Given the description of an element on the screen output the (x, y) to click on. 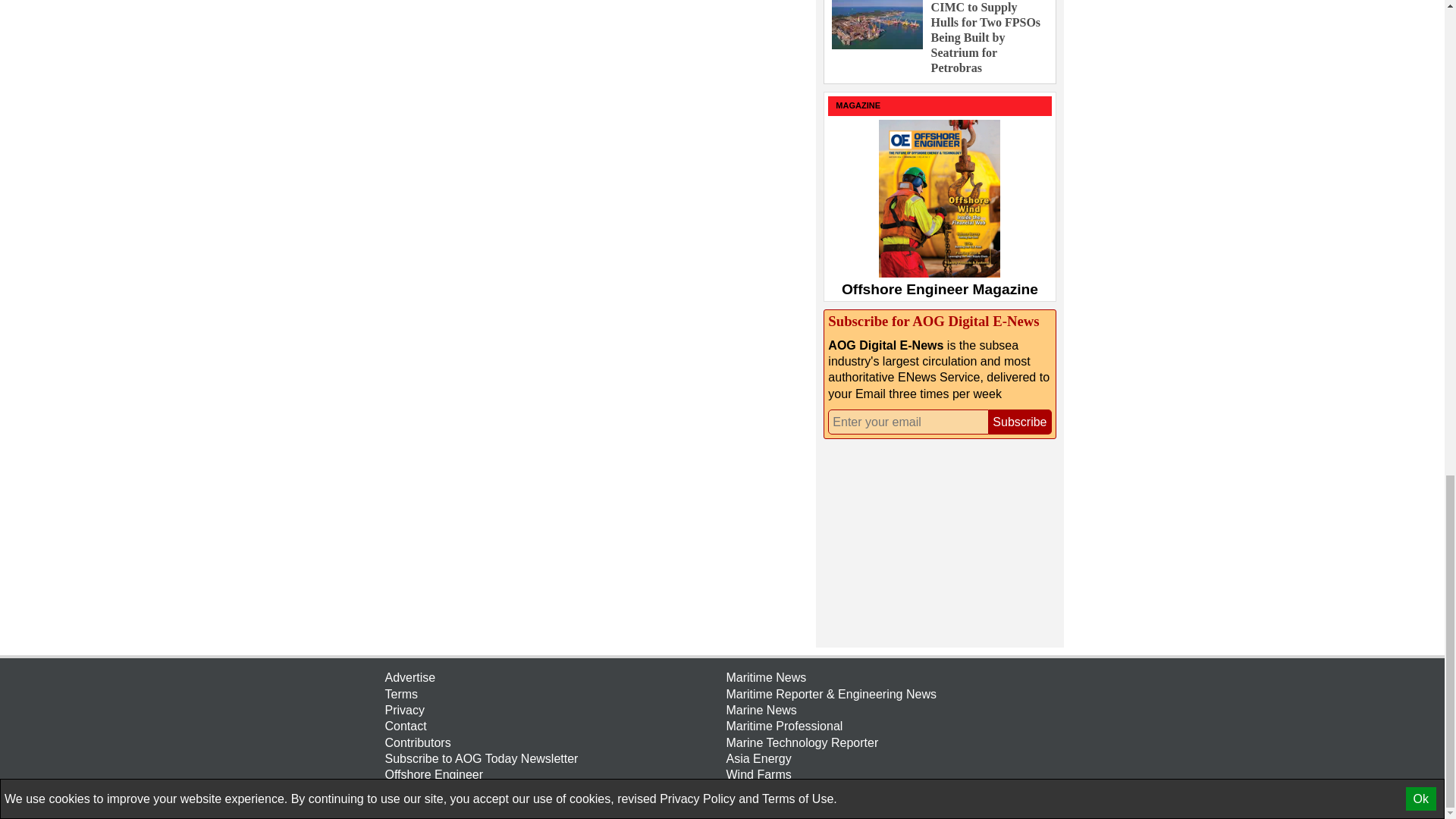
Asian Oil and Gas Adveritise (552, 677)
Contact Asian Oil and Gas team (552, 725)
3rd party ad content (937, 541)
Asia Energy News (892, 758)
Marine Technology (892, 742)
Wind Farms News (892, 774)
Subscribe for Ocean Engineer Magazine (552, 774)
Asian Oil and Gas Terms and Condition (552, 693)
Marine News Magazine (892, 709)
Asian Oil and Gas Privacy (552, 709)
Maritime Ligistics Professional (892, 725)
Asian Oil and Gas Contributors (552, 742)
Subscribe for AOG Email News (552, 758)
